Given the description of an element on the screen output the (x, y) to click on. 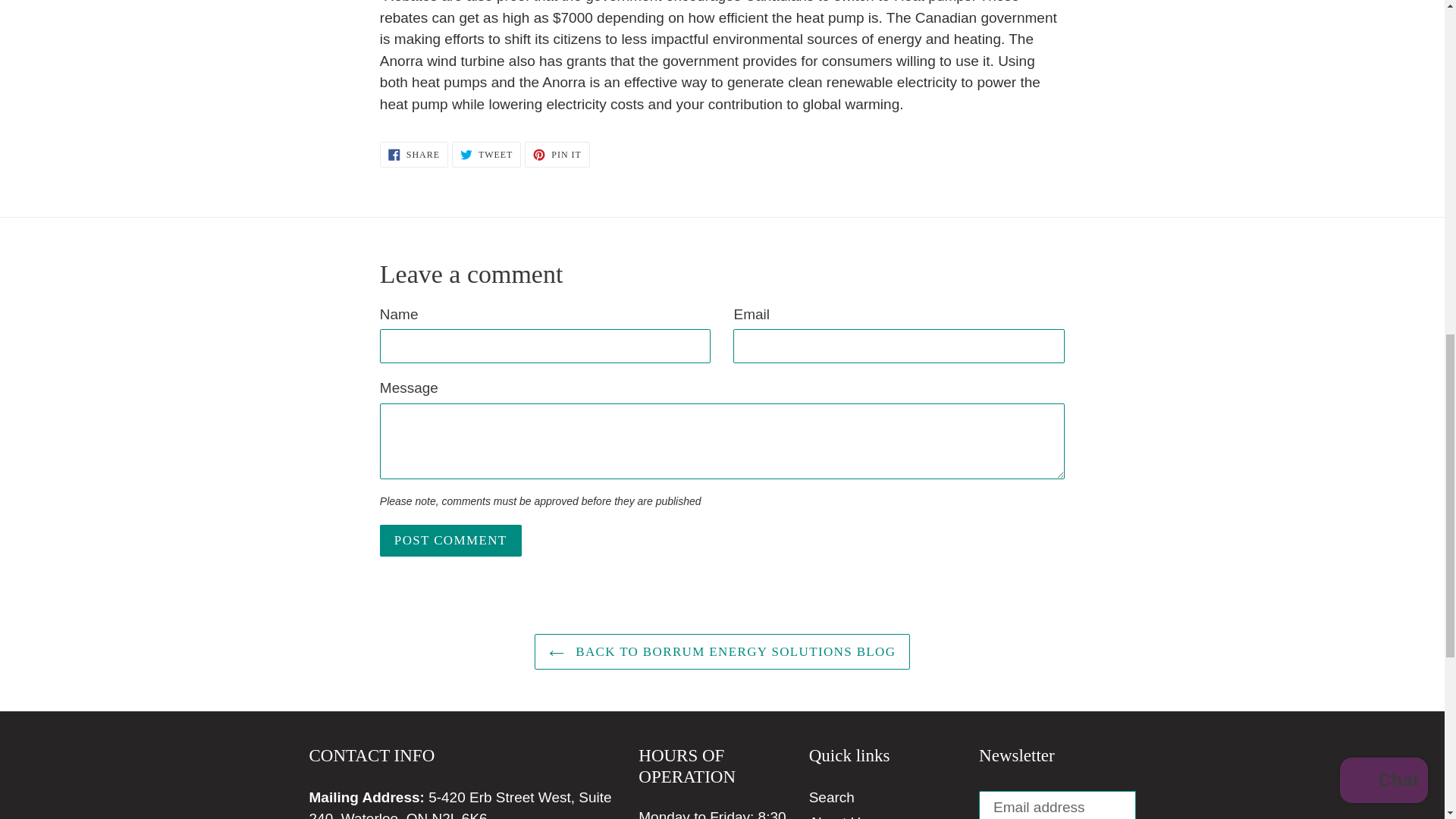
Post comment (450, 540)
